Given the description of an element on the screen output the (x, y) to click on. 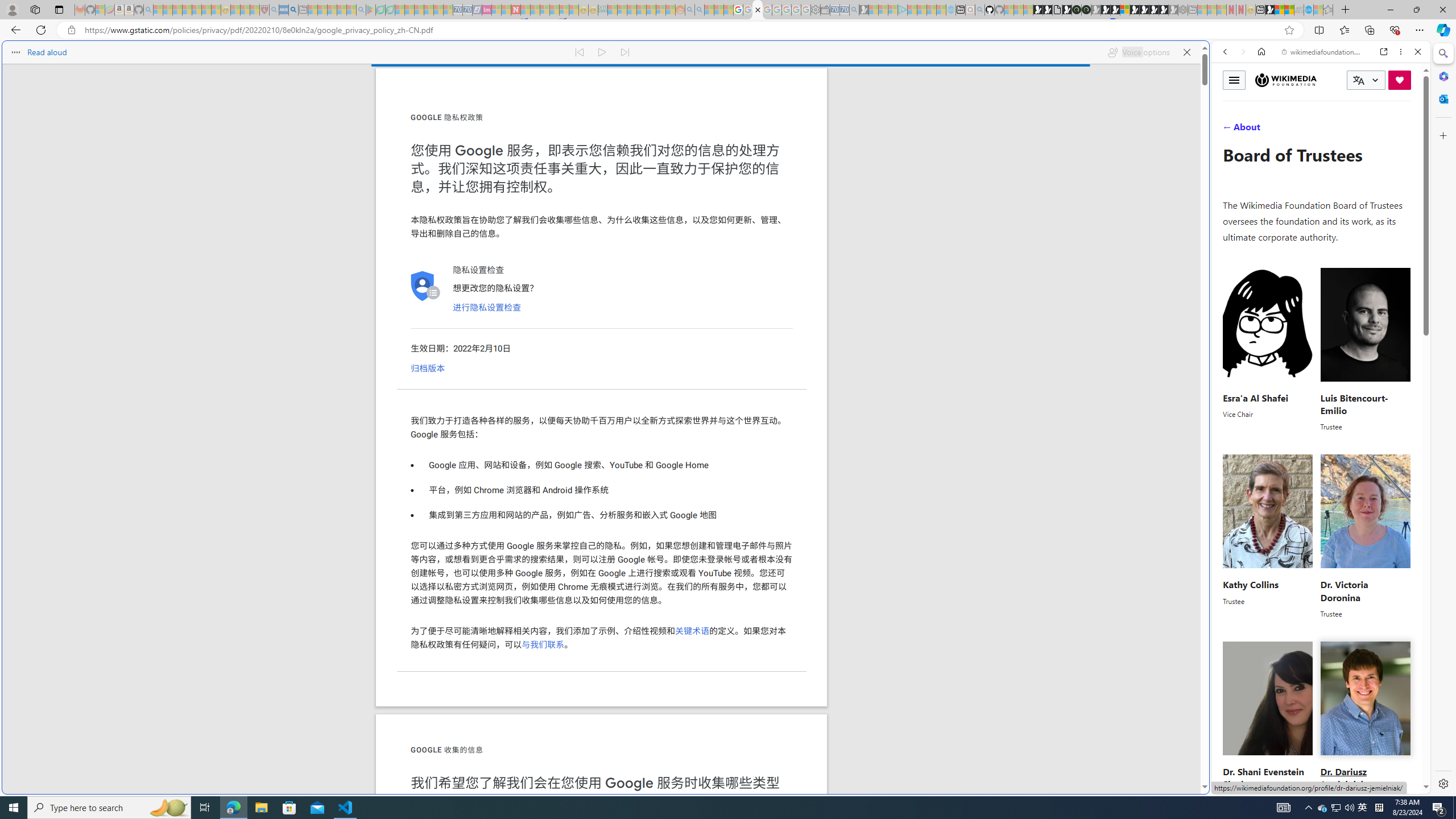
Donate now (1399, 80)
Future Focus Report 2024 (1085, 9)
CURRENT LANGUAGE: (1366, 80)
Continue to read aloud (Ctrl+Shift+U) (602, 52)
